Given the description of an element on the screen output the (x, y) to click on. 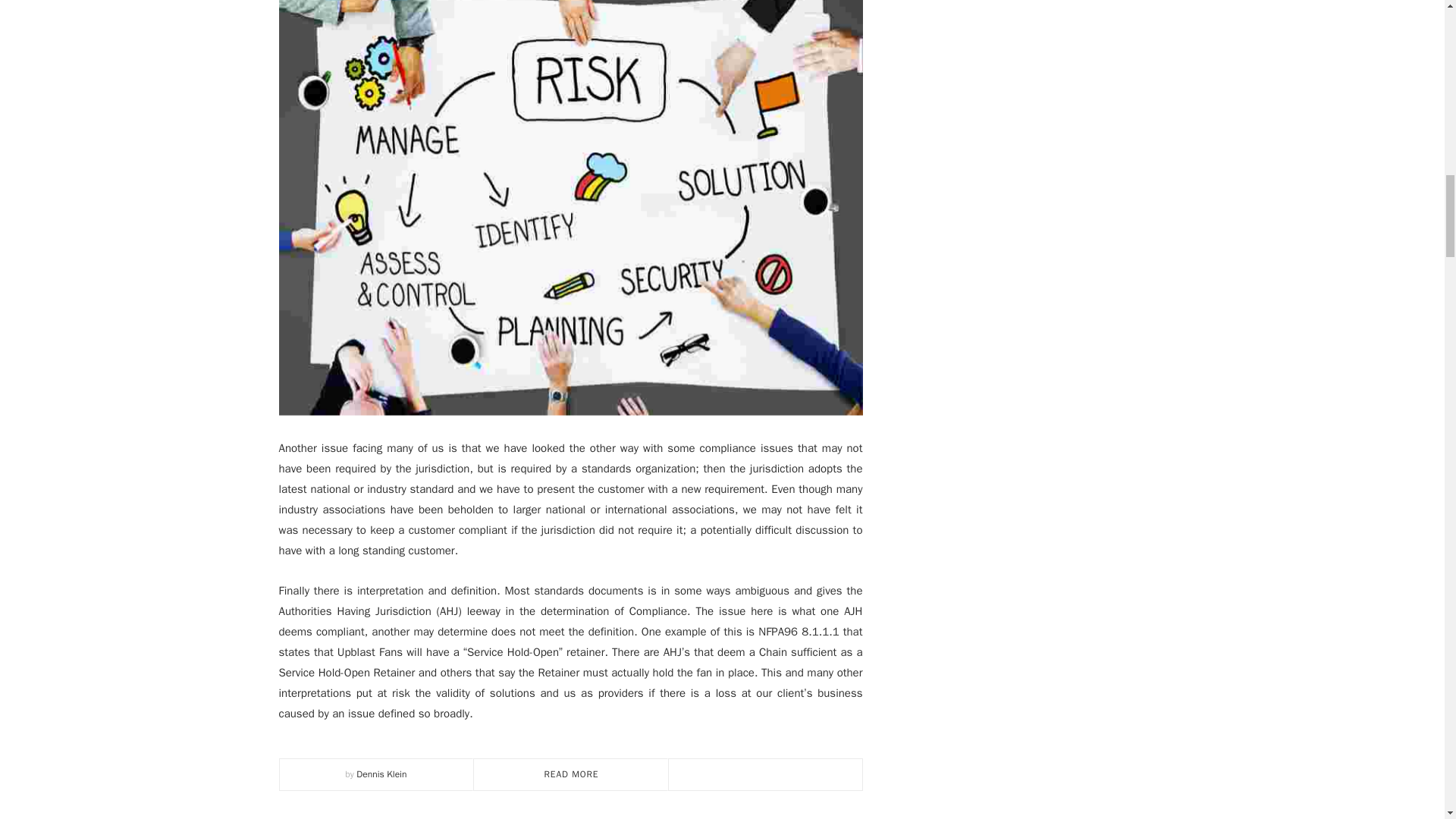
Posts by Dennis Klein (381, 774)
Dennis Klein (381, 774)
READ MORE (571, 774)
